Given the description of an element on the screen output the (x, y) to click on. 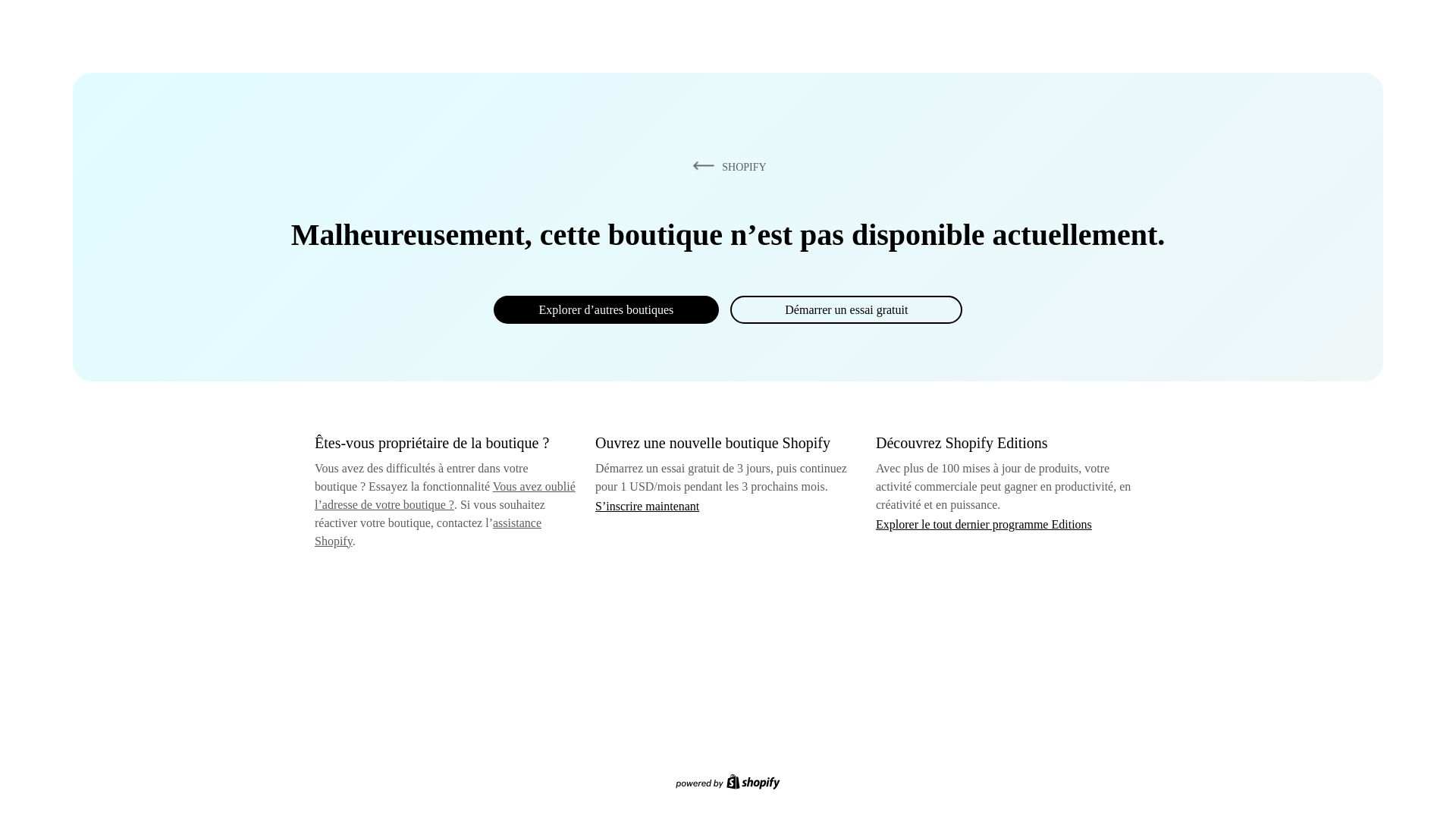
SHOPIFY (726, 166)
Explorer le tout dernier programme Editions (984, 523)
assistance Shopify (427, 531)
